Given the description of an element on the screen output the (x, y) to click on. 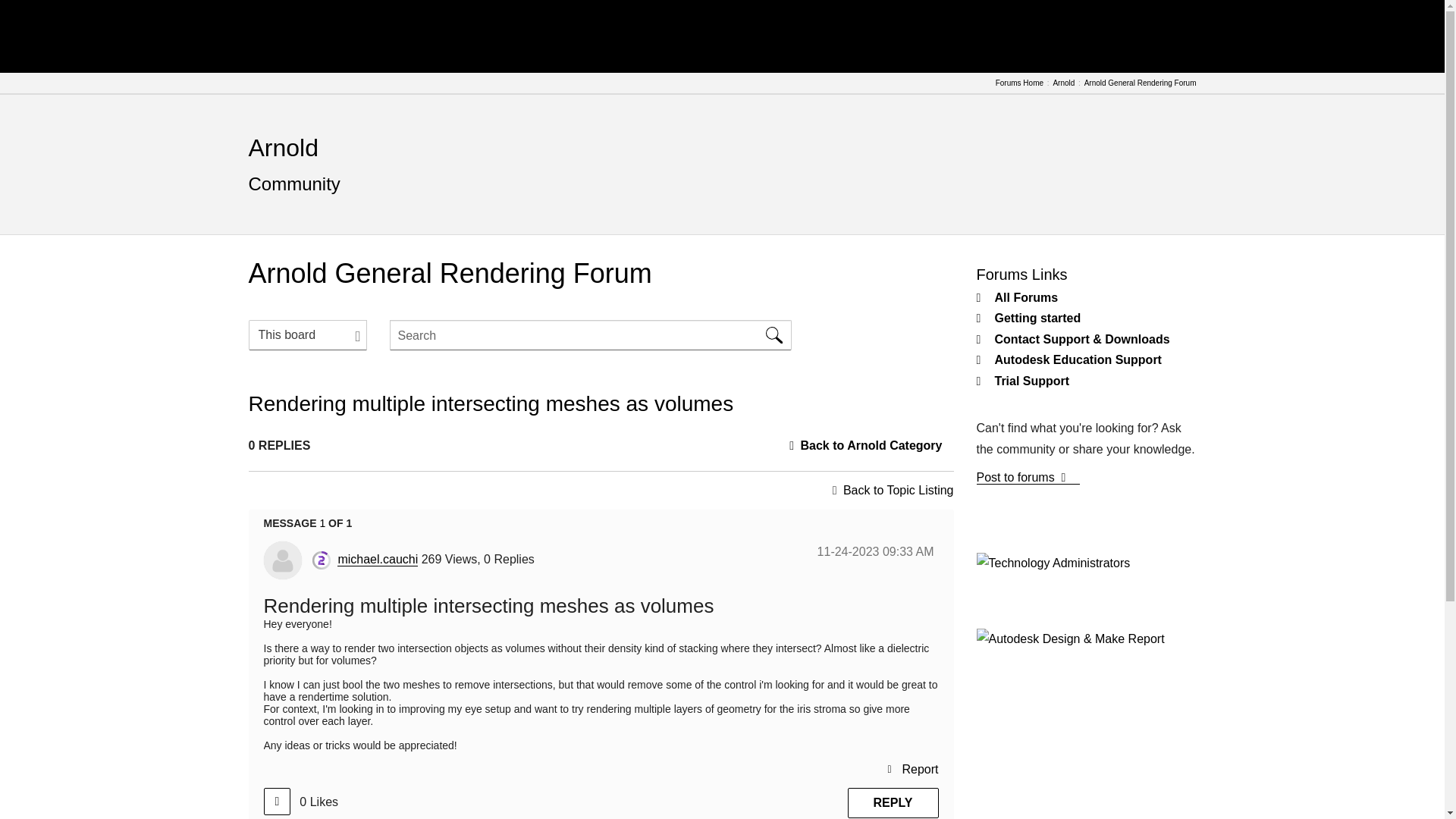
Back to Topic Listing (898, 490)
Report (911, 769)
Search (591, 335)
Arnold (283, 147)
Search Granularity (307, 335)
Search (774, 335)
michael.cauchi (377, 559)
Back to Arnold Category (871, 445)
Community Visitor (321, 560)
Search (774, 335)
Forums Home (1019, 82)
REPLY (893, 802)
Search (774, 335)
Arnold General Rendering Forum (1140, 82)
michael.cauchi (282, 560)
